Given the description of an element on the screen output the (x, y) to click on. 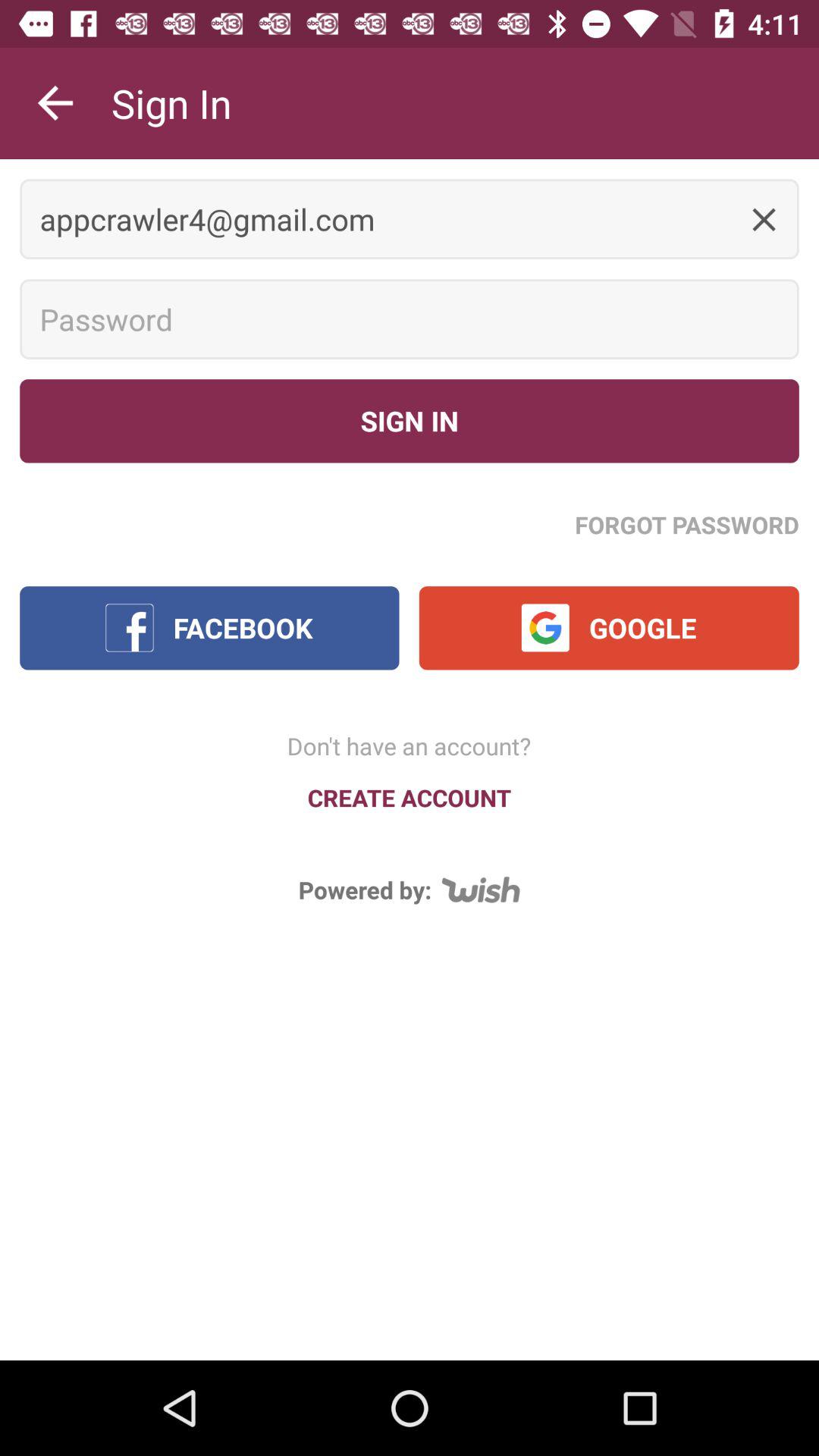
password space (409, 319)
